Given the description of an element on the screen output the (x, y) to click on. 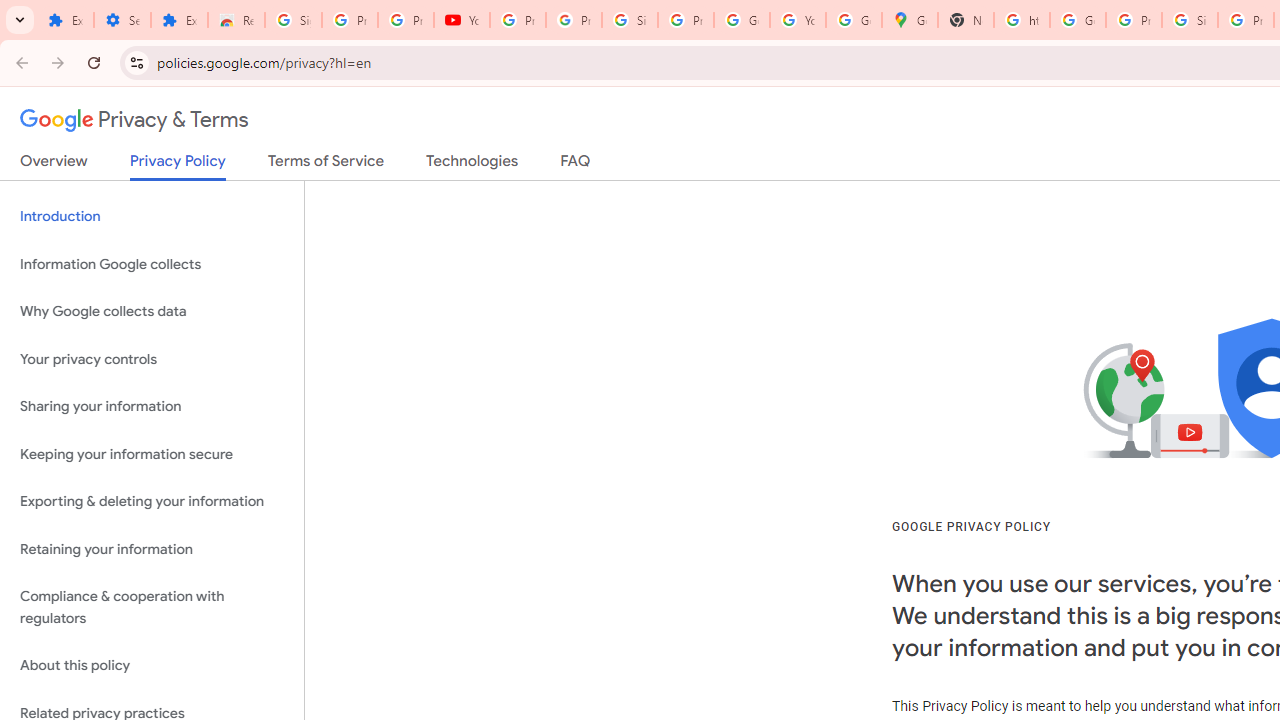
Sign in - Google Accounts (1190, 20)
Why Google collects data (152, 312)
FAQ (575, 165)
Compliance & cooperation with regulators (152, 607)
Introduction (152, 216)
Sharing your information (152, 407)
https://scholar.google.com/ (1021, 20)
